Given the description of an element on the screen output the (x, y) to click on. 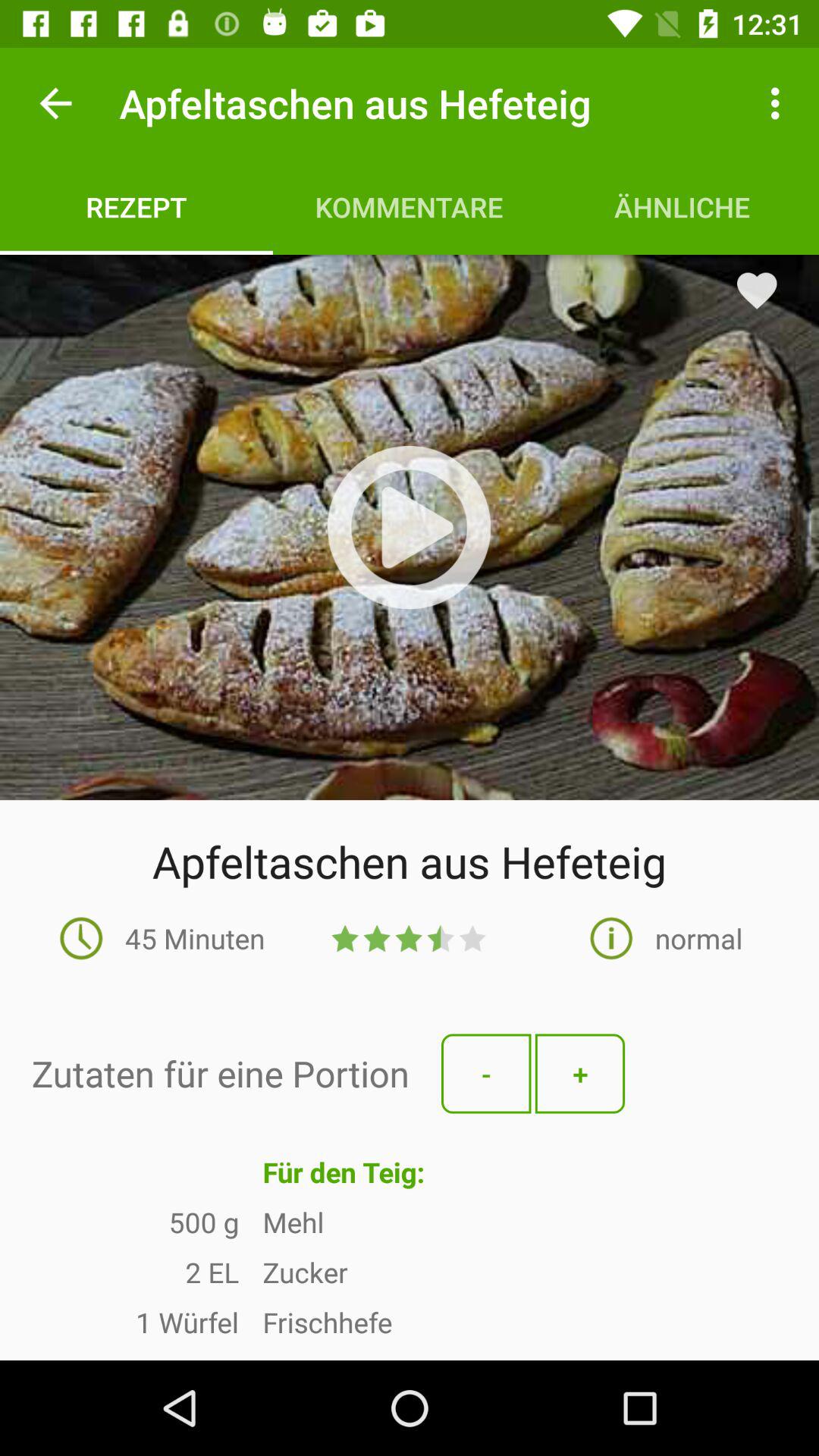
play video (408, 527)
